Given the description of an element on the screen output the (x, y) to click on. 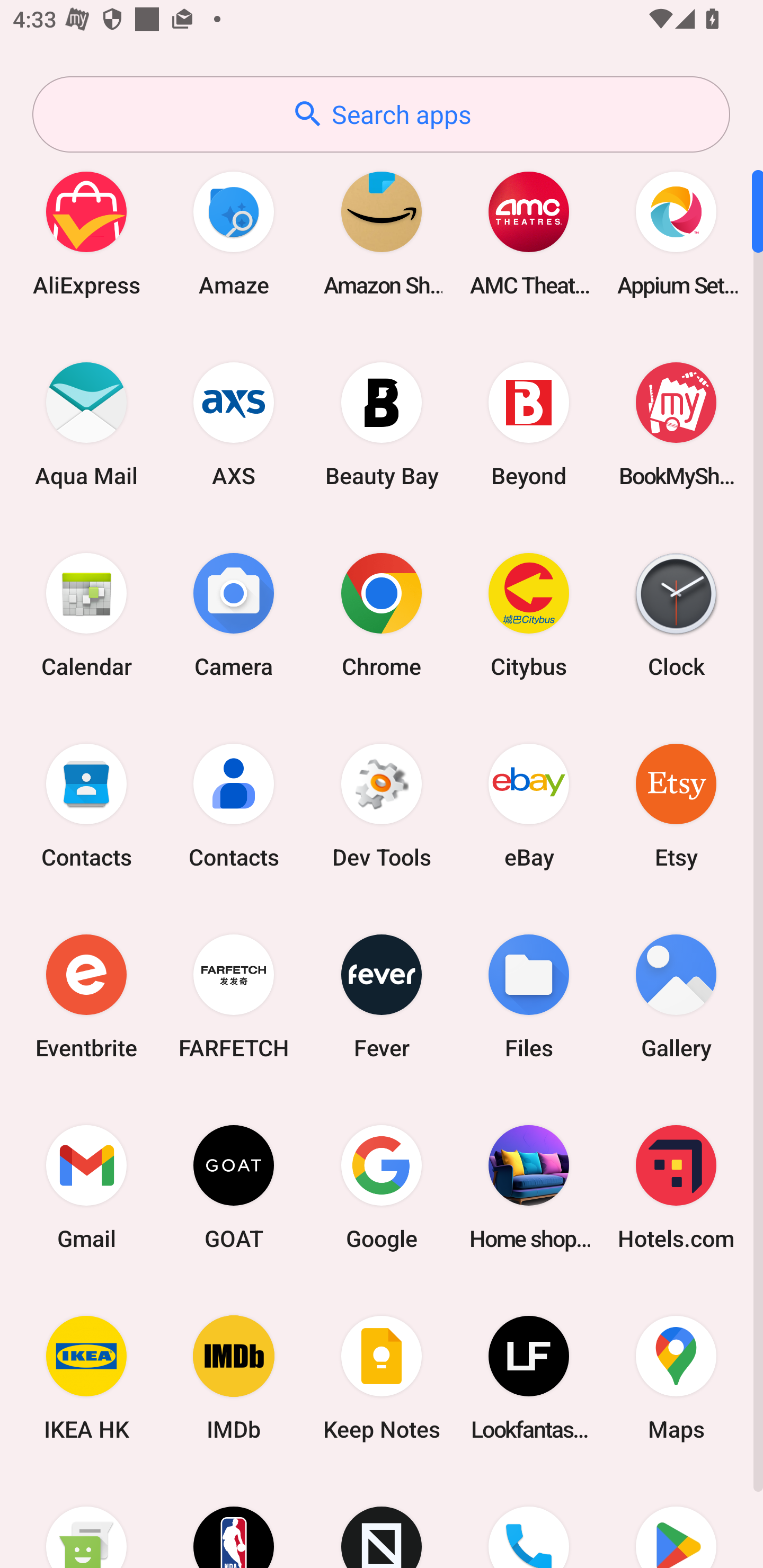
  Search apps (381, 114)
AliExpress (86, 233)
Amaze (233, 233)
Amazon Shopping (381, 233)
AMC Theatres (528, 233)
Appium Settings (676, 233)
Aqua Mail (86, 424)
AXS (233, 424)
Beauty Bay (381, 424)
Beyond (528, 424)
BookMyShow (676, 424)
Calendar (86, 614)
Camera (233, 614)
Chrome (381, 614)
Citybus (528, 614)
Clock (676, 614)
Contacts (86, 805)
Contacts (233, 805)
Dev Tools (381, 805)
eBay (528, 805)
Etsy (676, 805)
Eventbrite (86, 996)
FARFETCH (233, 996)
Fever (381, 996)
Files (528, 996)
Gallery (676, 996)
Gmail (86, 1186)
GOAT (233, 1186)
Google (381, 1186)
Home shopping (528, 1186)
Hotels.com (676, 1186)
IKEA HK (86, 1377)
IMDb (233, 1377)
Keep Notes (381, 1377)
Lookfantastic (528, 1377)
Maps (676, 1377)
